Given the description of an element on the screen output the (x, y) to click on. 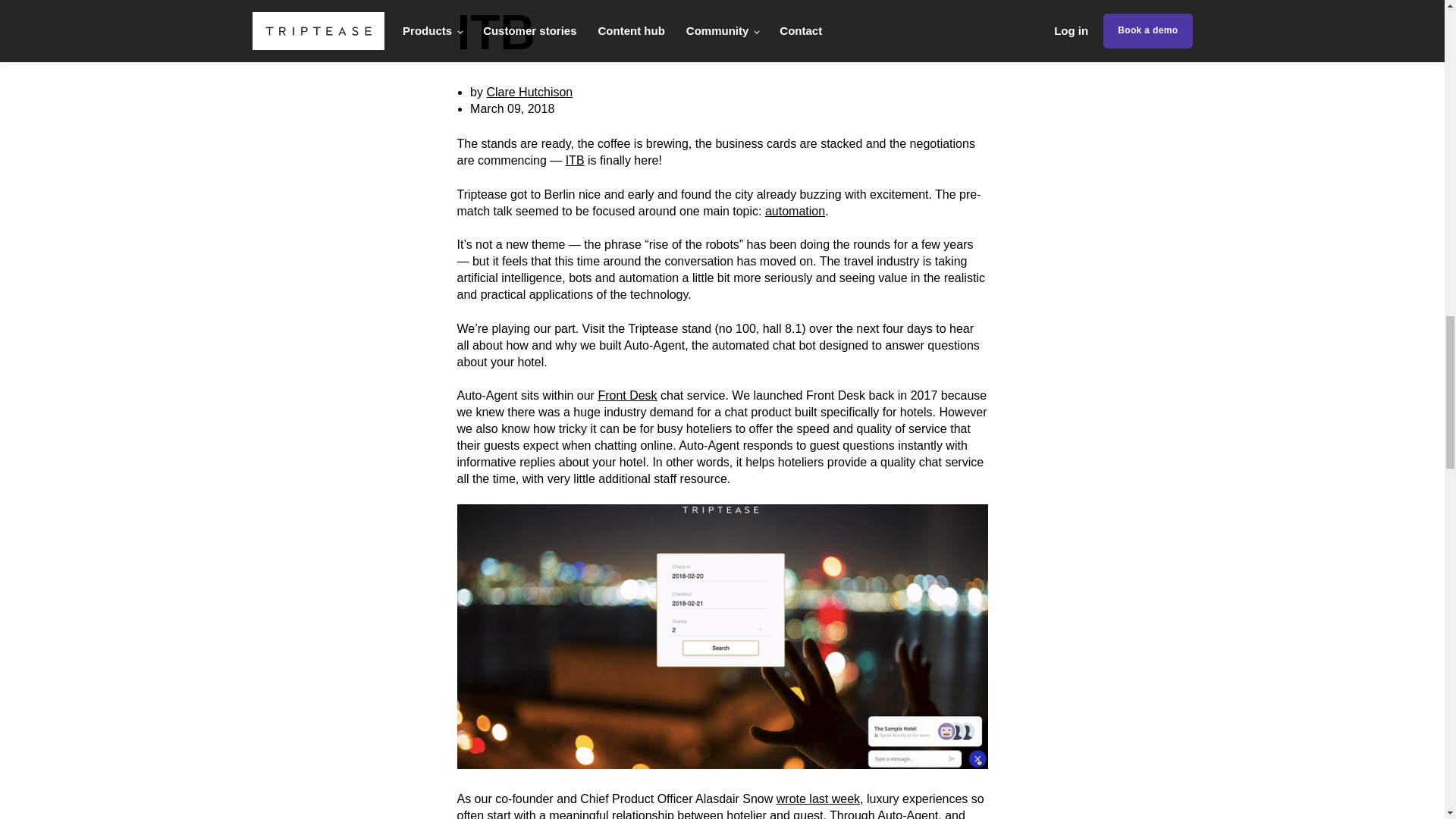
Front Desk (626, 395)
Clare Hutchison (529, 91)
automation (795, 210)
ITB (575, 160)
wrote last week (818, 798)
